Given the description of an element on the screen output the (x, y) to click on. 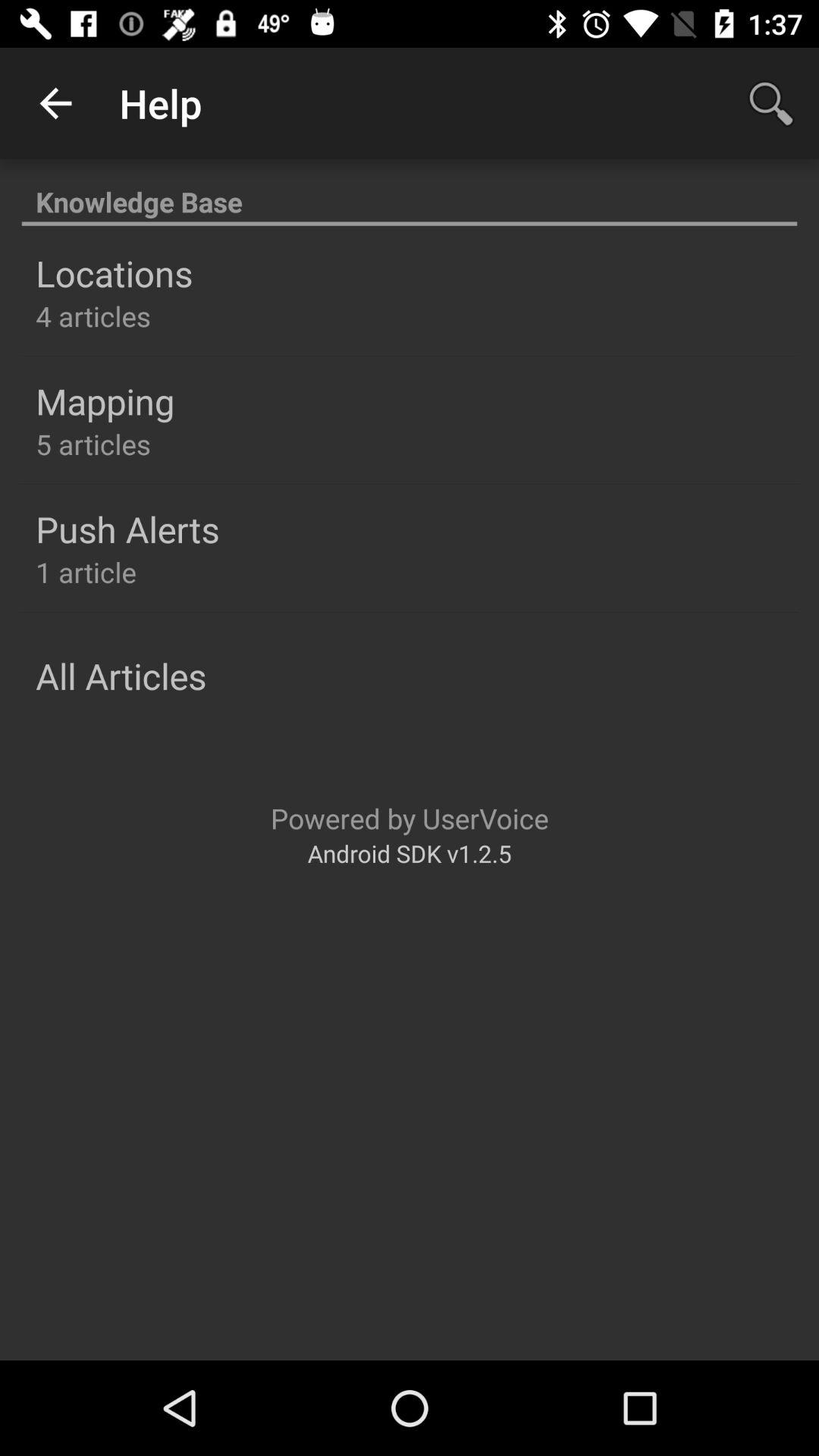
launch the item next to the help icon (55, 103)
